Given the description of an element on the screen output the (x, y) to click on. 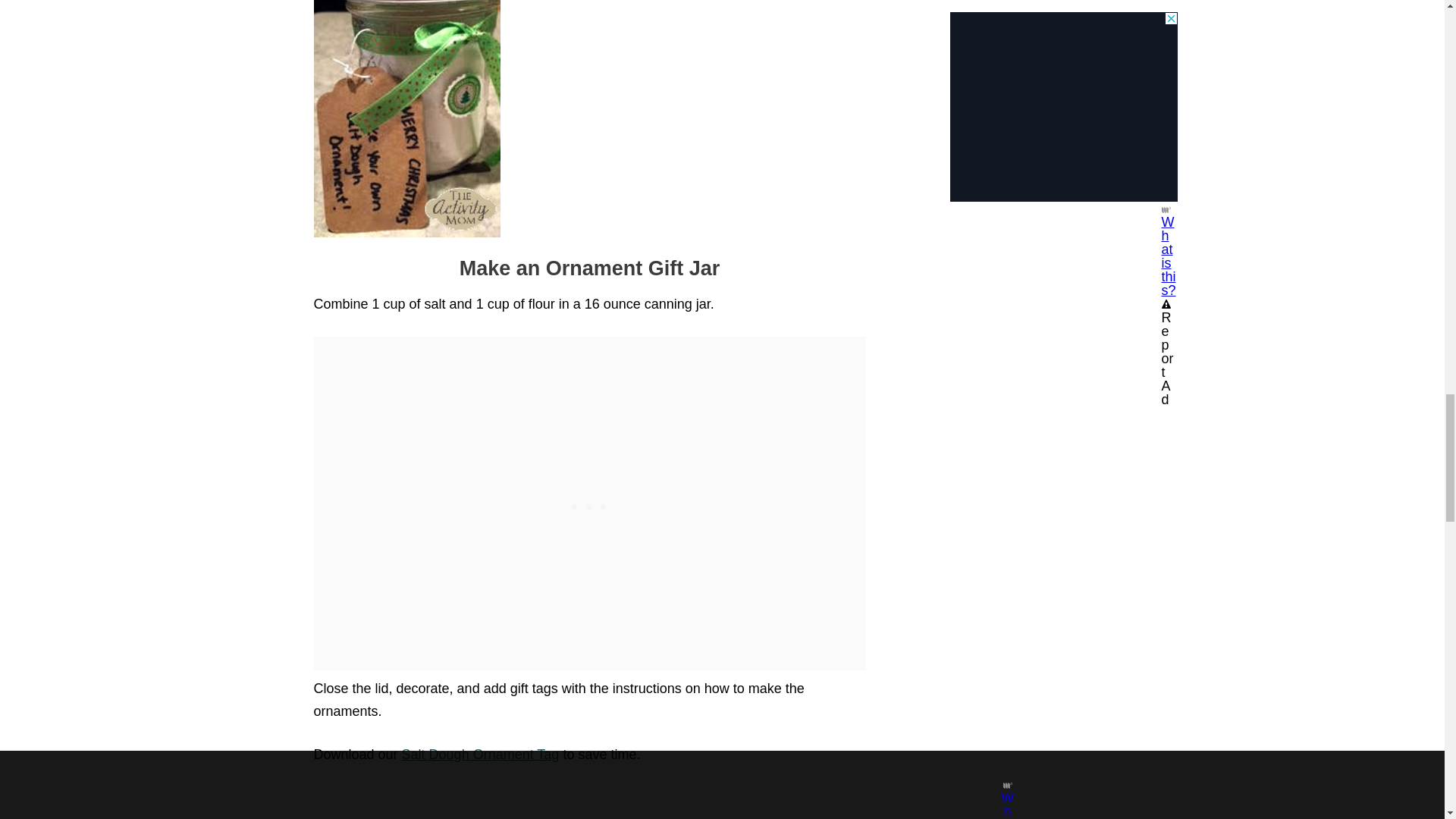
Salt Dough Ornament Tag (480, 754)
